Given the description of an element on the screen output the (x, y) to click on. 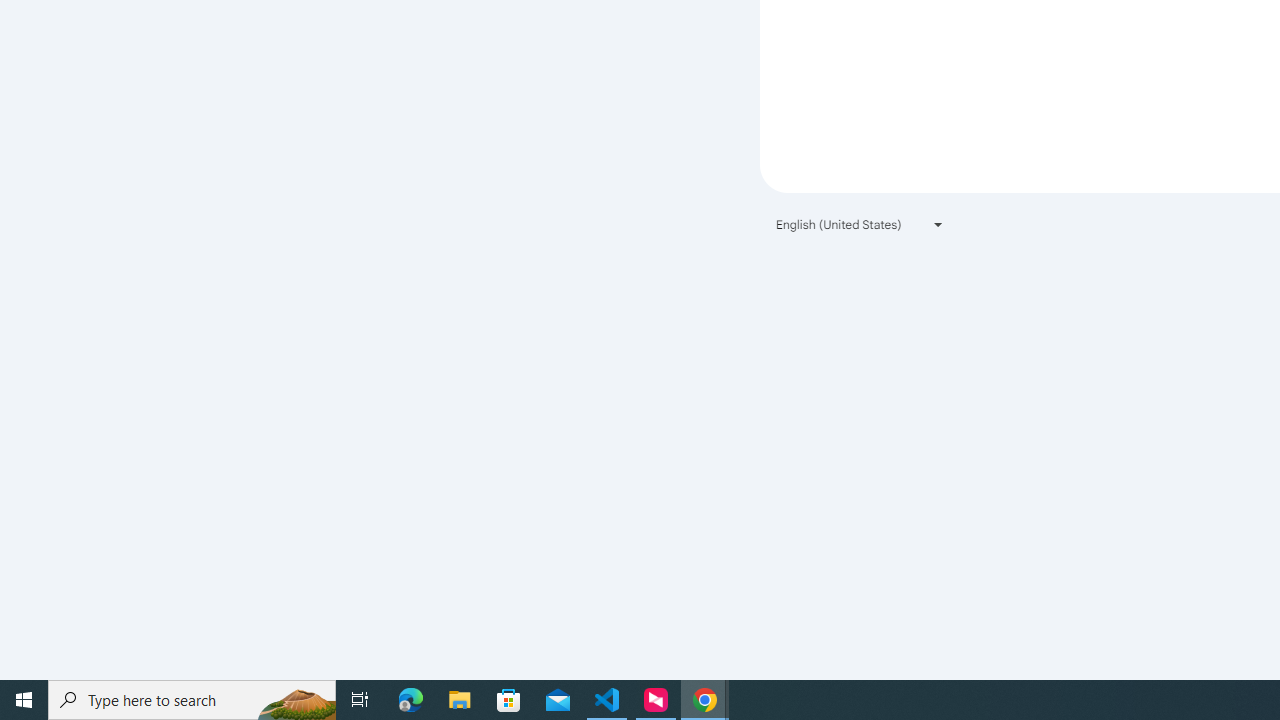
English (United States) (860, 224)
